Given the description of an element on the screen output the (x, y) to click on. 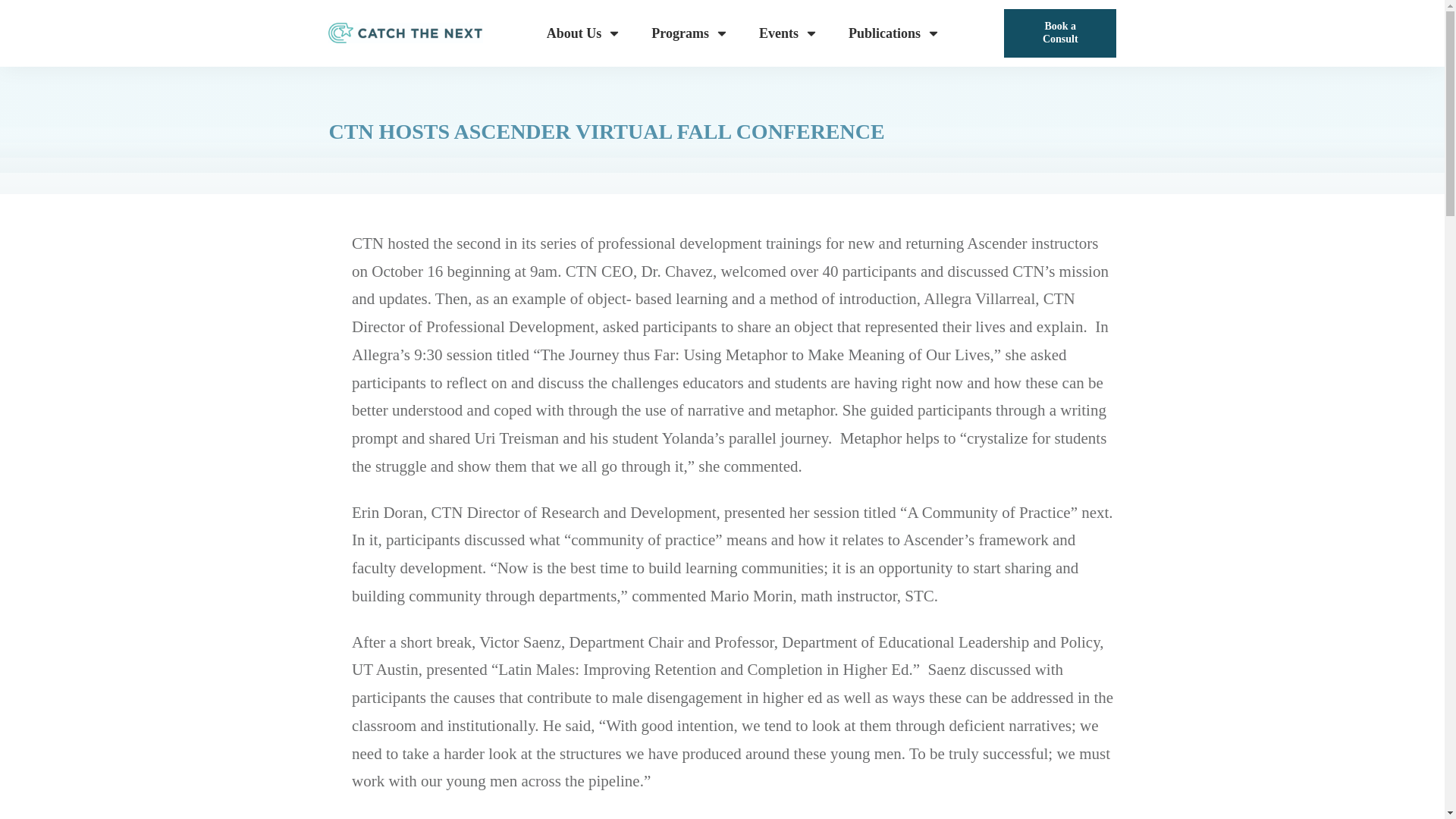
Events (788, 32)
About Us (584, 32)
Programs (689, 32)
Publications (894, 32)
